Given the description of an element on the screen output the (x, y) to click on. 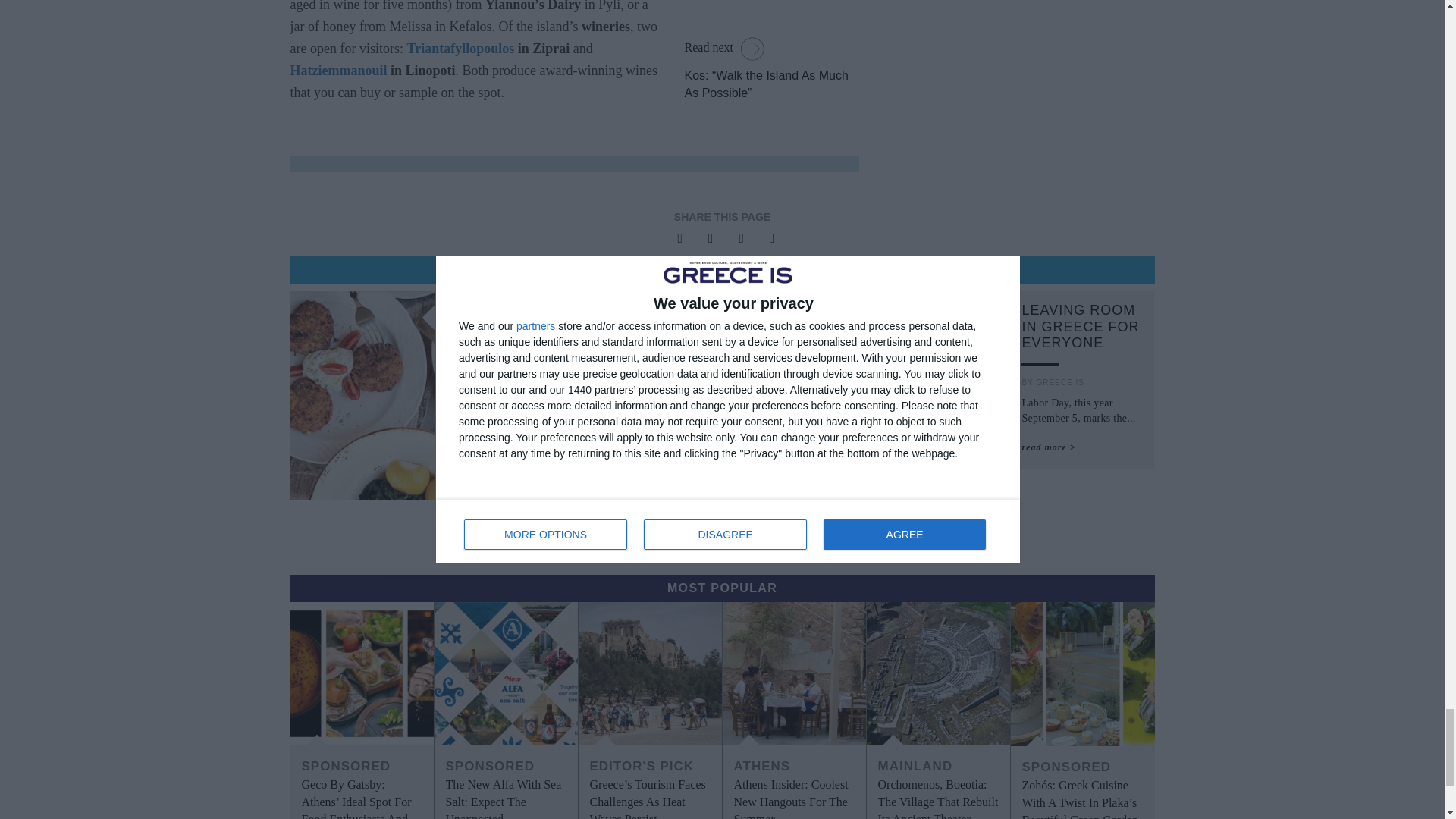
Print this article (767, 238)
Share via email (737, 238)
Share on facebook (675, 238)
Share on twitter (706, 238)
